Given the description of an element on the screen output the (x, y) to click on. 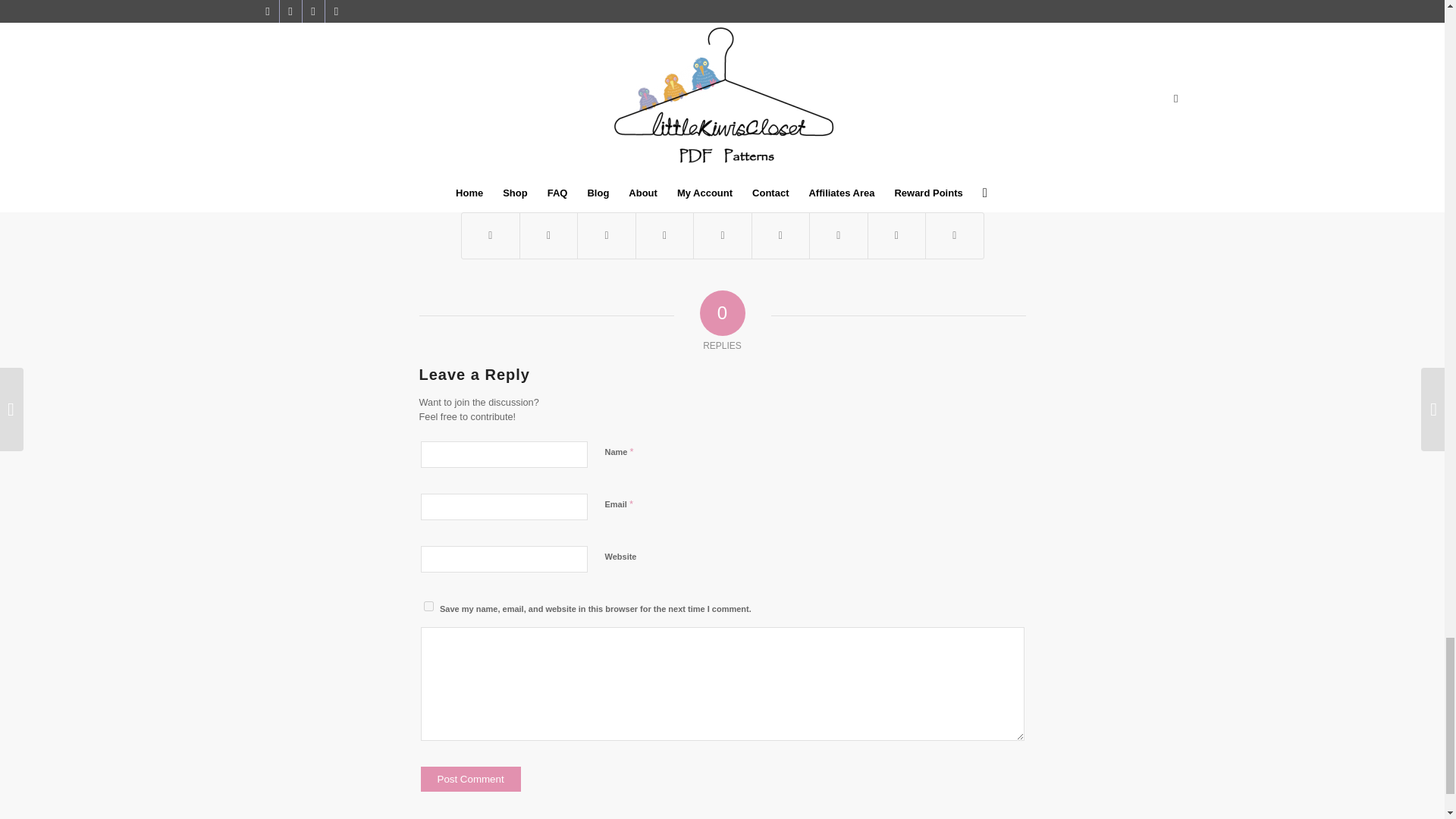
yes (427, 605)
Posts by LydiaP (751, 93)
Post Comment (469, 778)
